Given the description of an element on the screen output the (x, y) to click on. 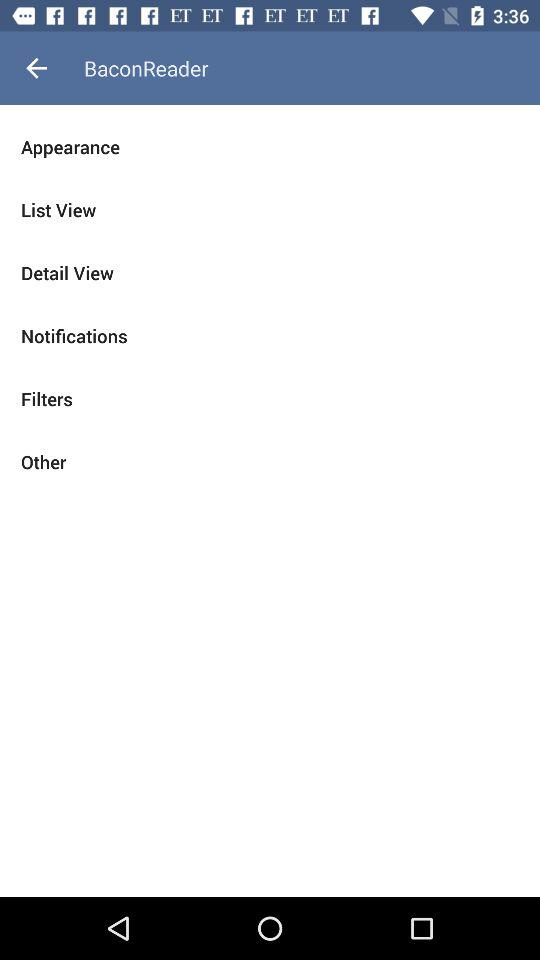
swipe until the other icon (270, 461)
